Given the description of an element on the screen output the (x, y) to click on. 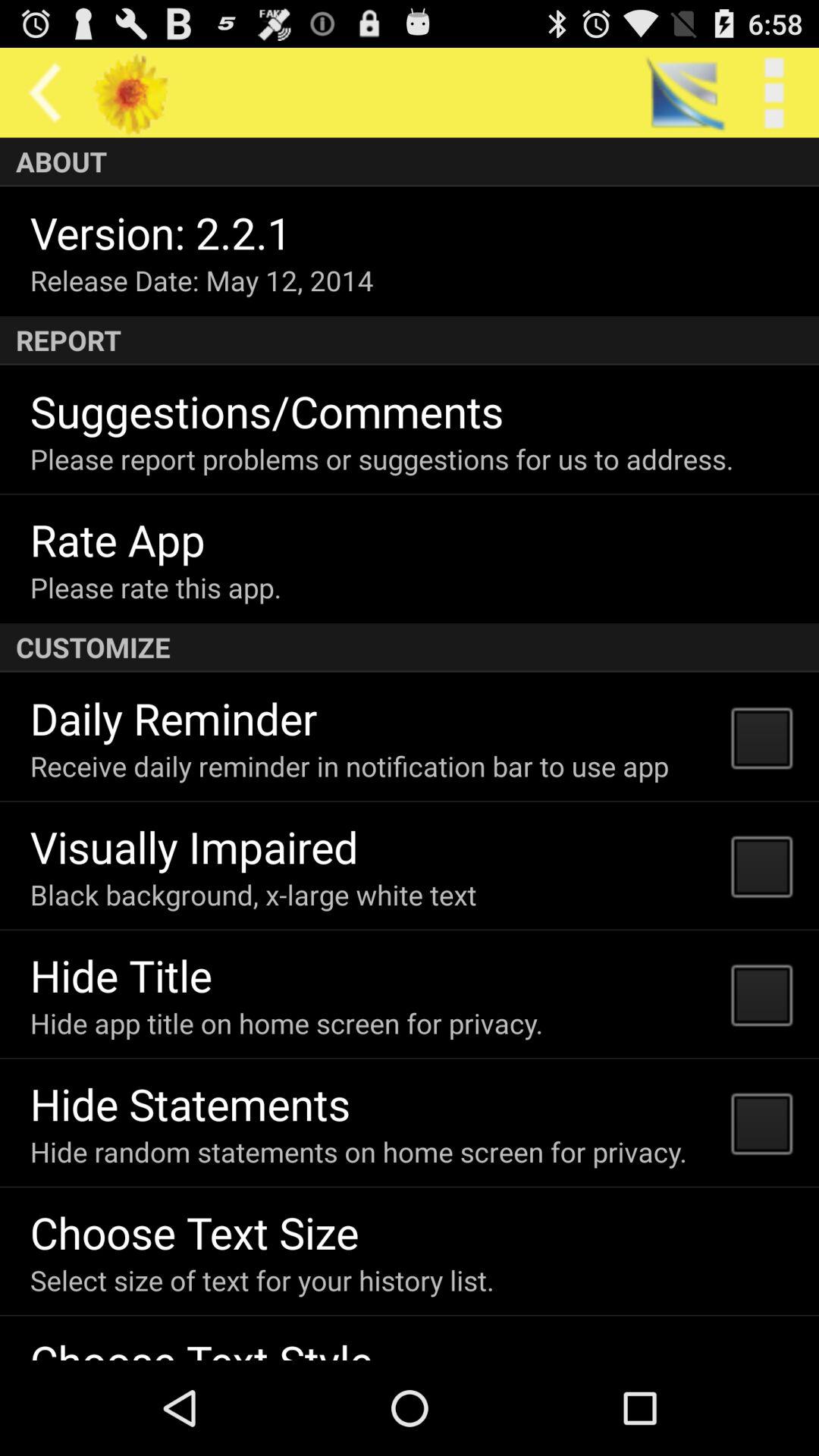
jump until please report problems item (381, 458)
